Given the description of an element on the screen output the (x, y) to click on. 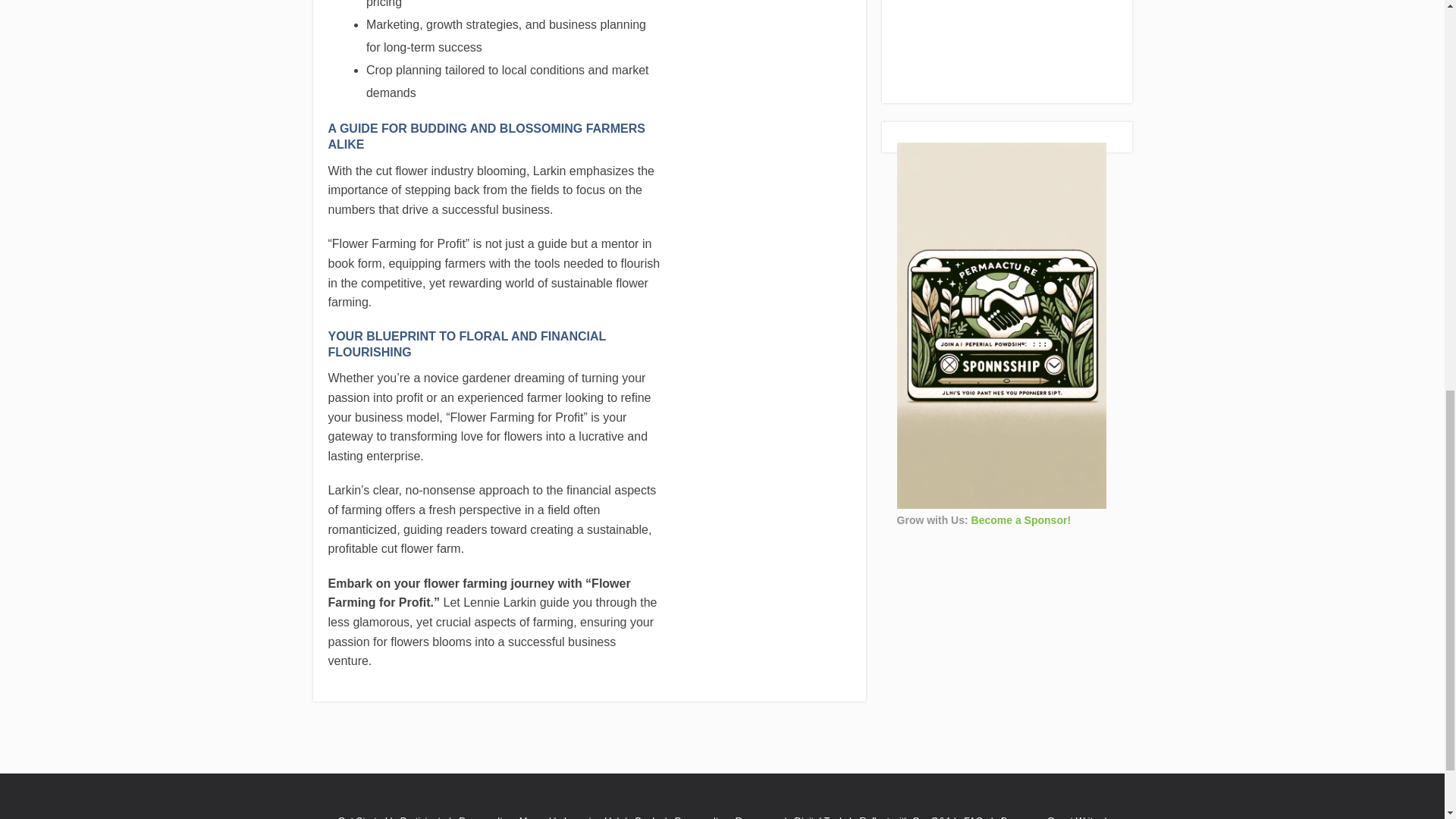
Become a Sponsor! (1020, 520)
